Given the description of an element on the screen output the (x, y) to click on. 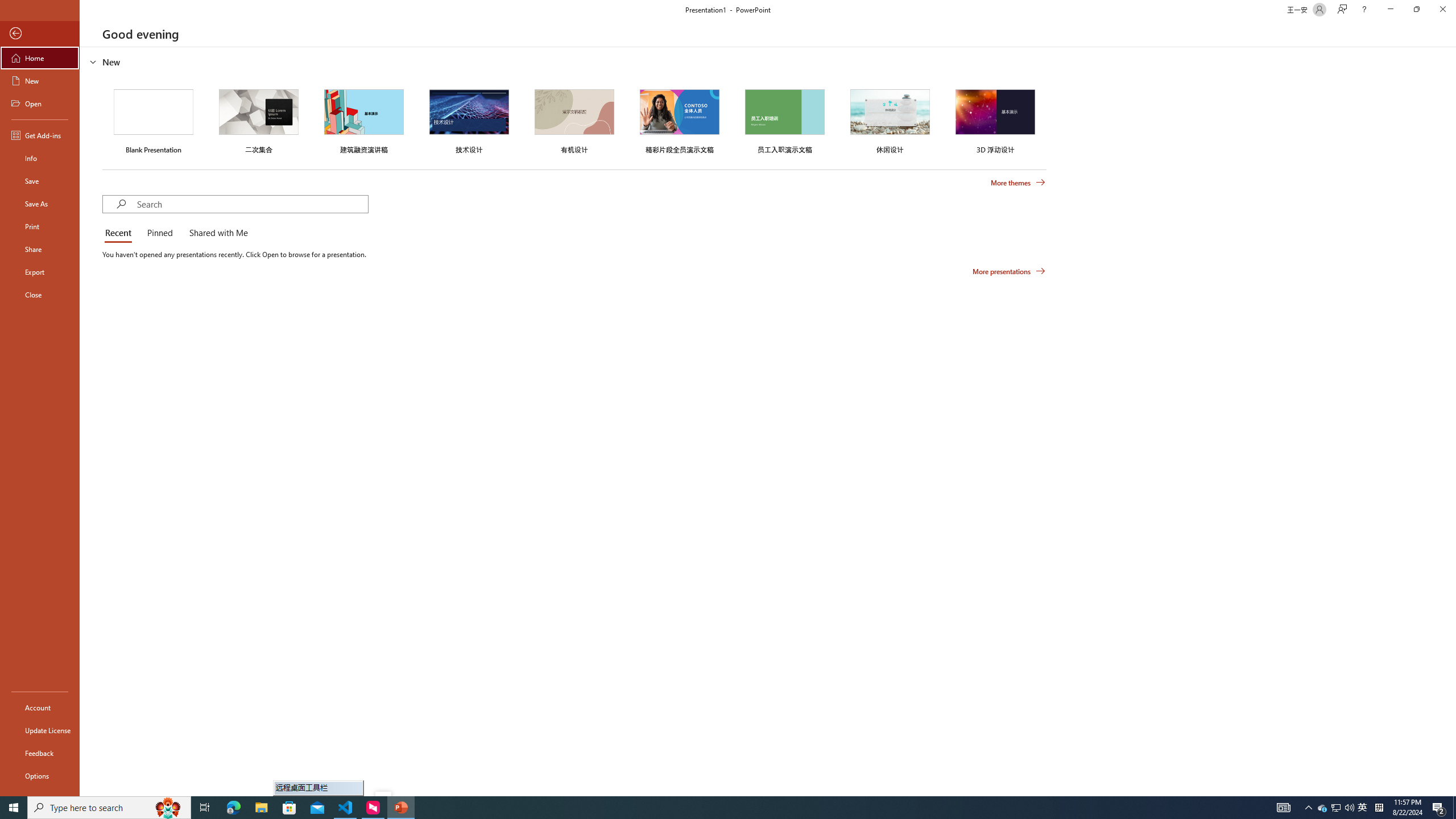
Options (40, 775)
Back (40, 33)
More presentations (1008, 270)
Shared with Me (215, 233)
Get Add-ins (40, 134)
Export (40, 271)
More themes (1018, 182)
